Given the description of an element on the screen output the (x, y) to click on. 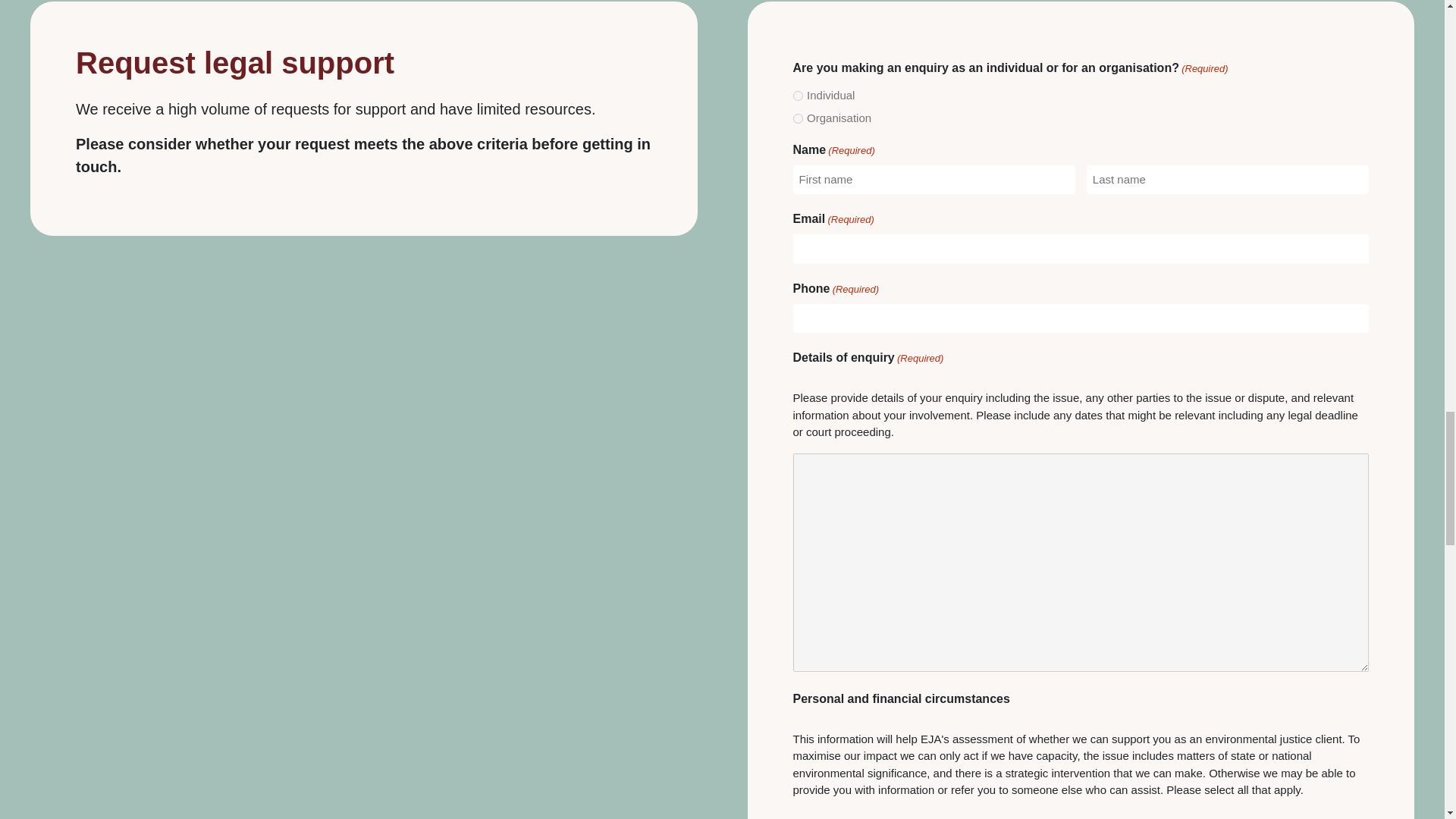
Organisation (798, 118)
Individual (798, 95)
